Given the description of an element on the screen output the (x, y) to click on. 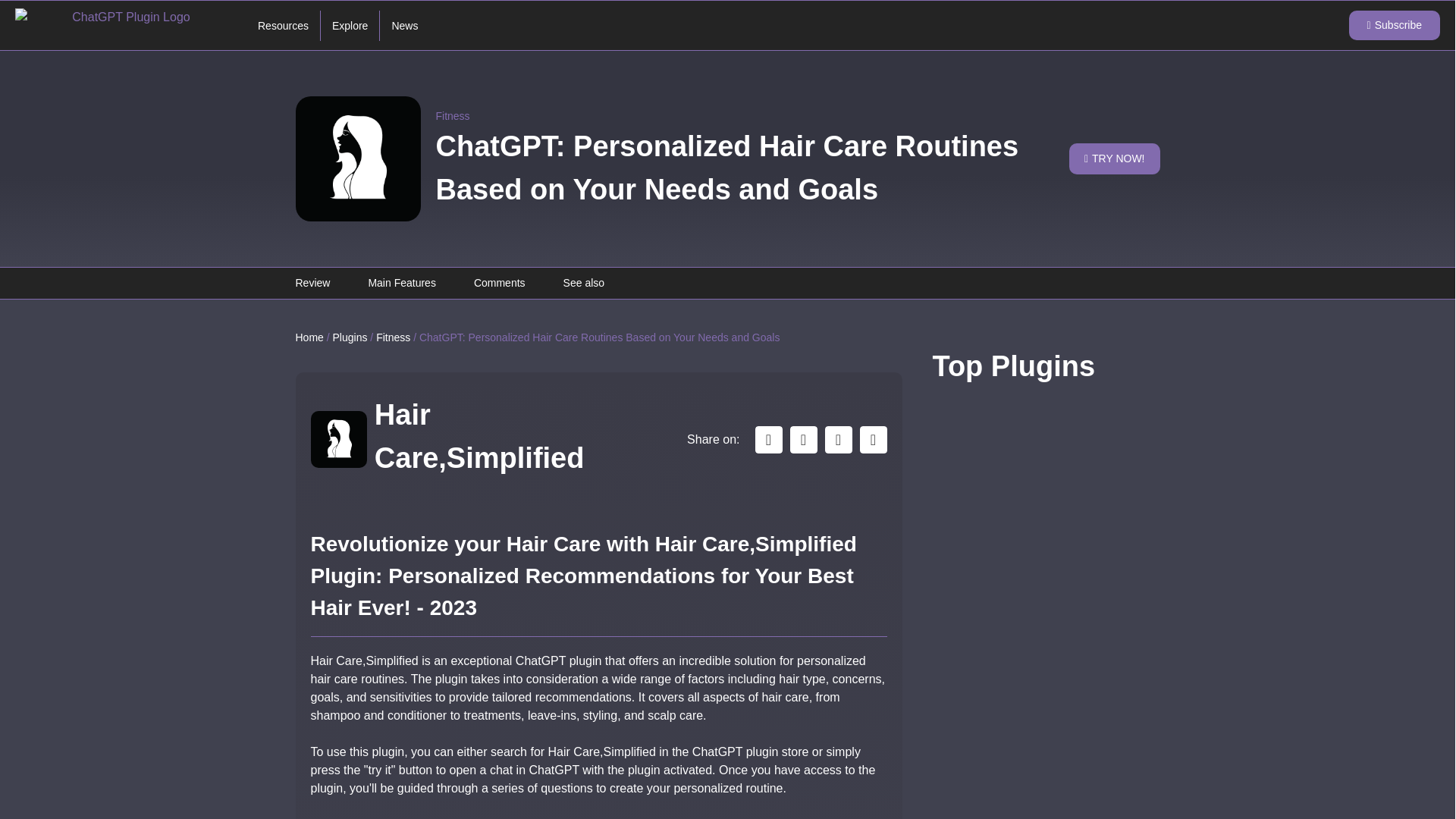
Fitness (451, 116)
Explore (349, 25)
Resources (282, 25)
See also (583, 283)
Home (309, 337)
Subscribe (1394, 25)
Fitness (392, 337)
Plugins (350, 337)
Main Features (401, 283)
TRY NOW! (1114, 158)
